Given the description of an element on the screen output the (x, y) to click on. 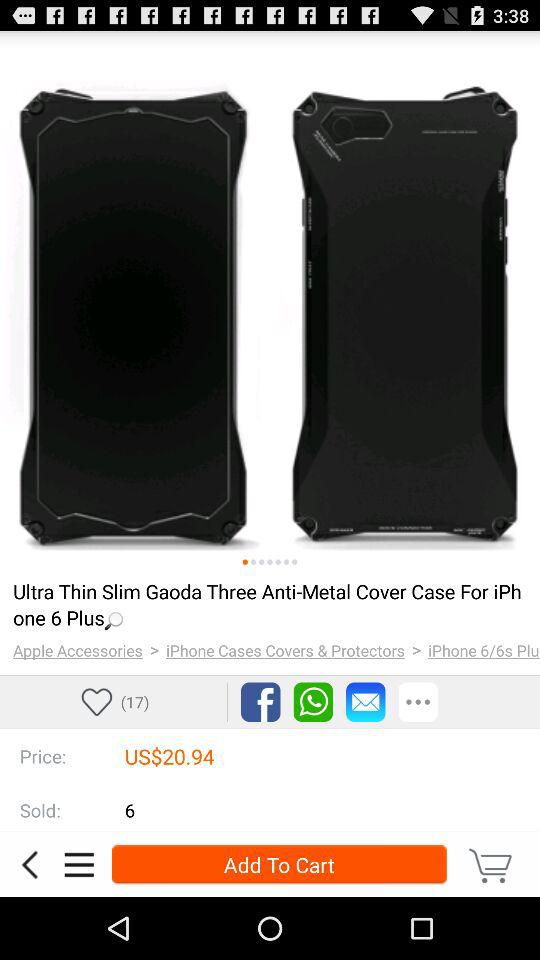
turn on item below the loading... item (285, 650)
